Given the description of an element on the screen output the (x, y) to click on. 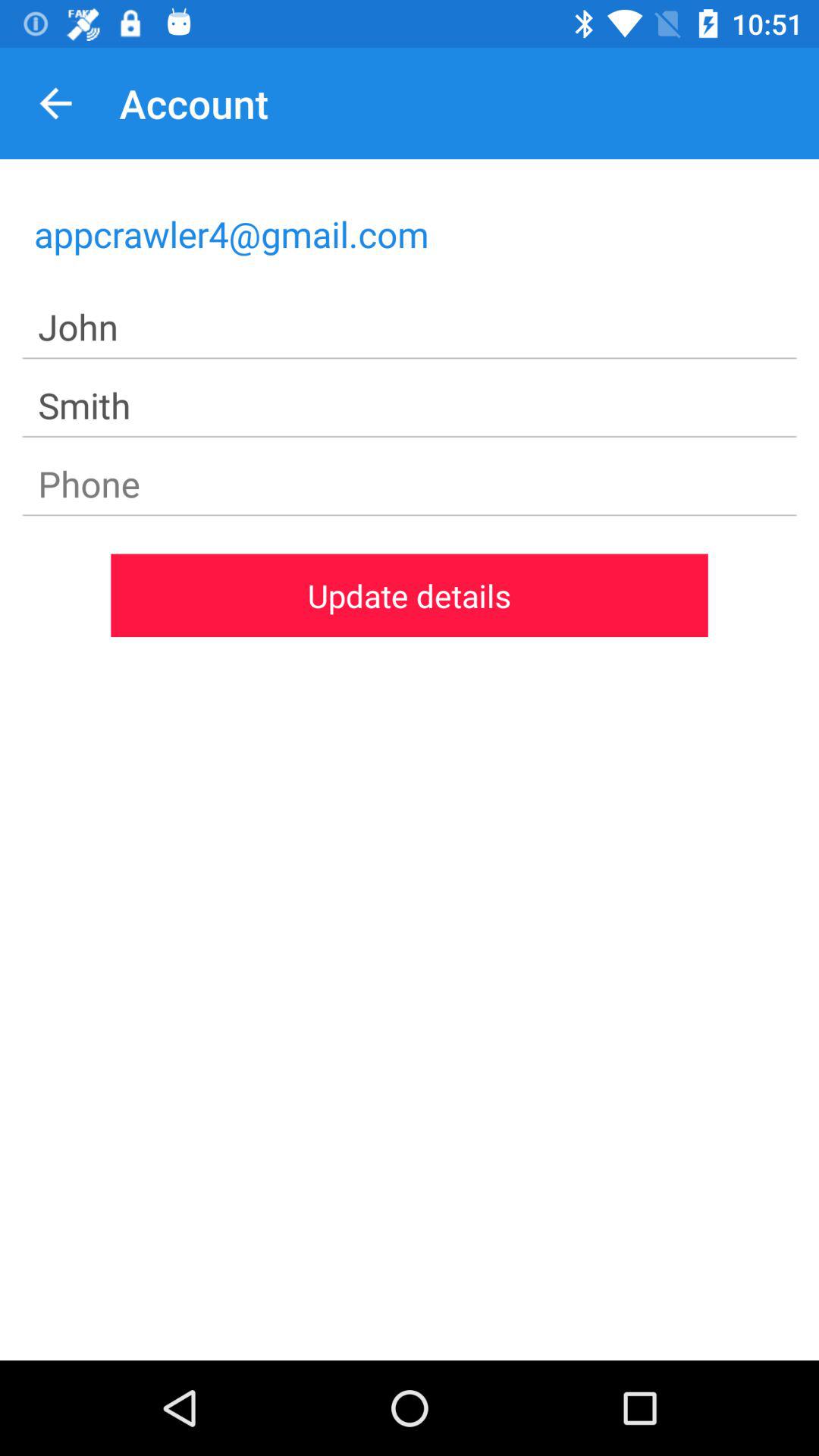
turn off item below the john item (409, 405)
